Given the description of an element on the screen output the (x, y) to click on. 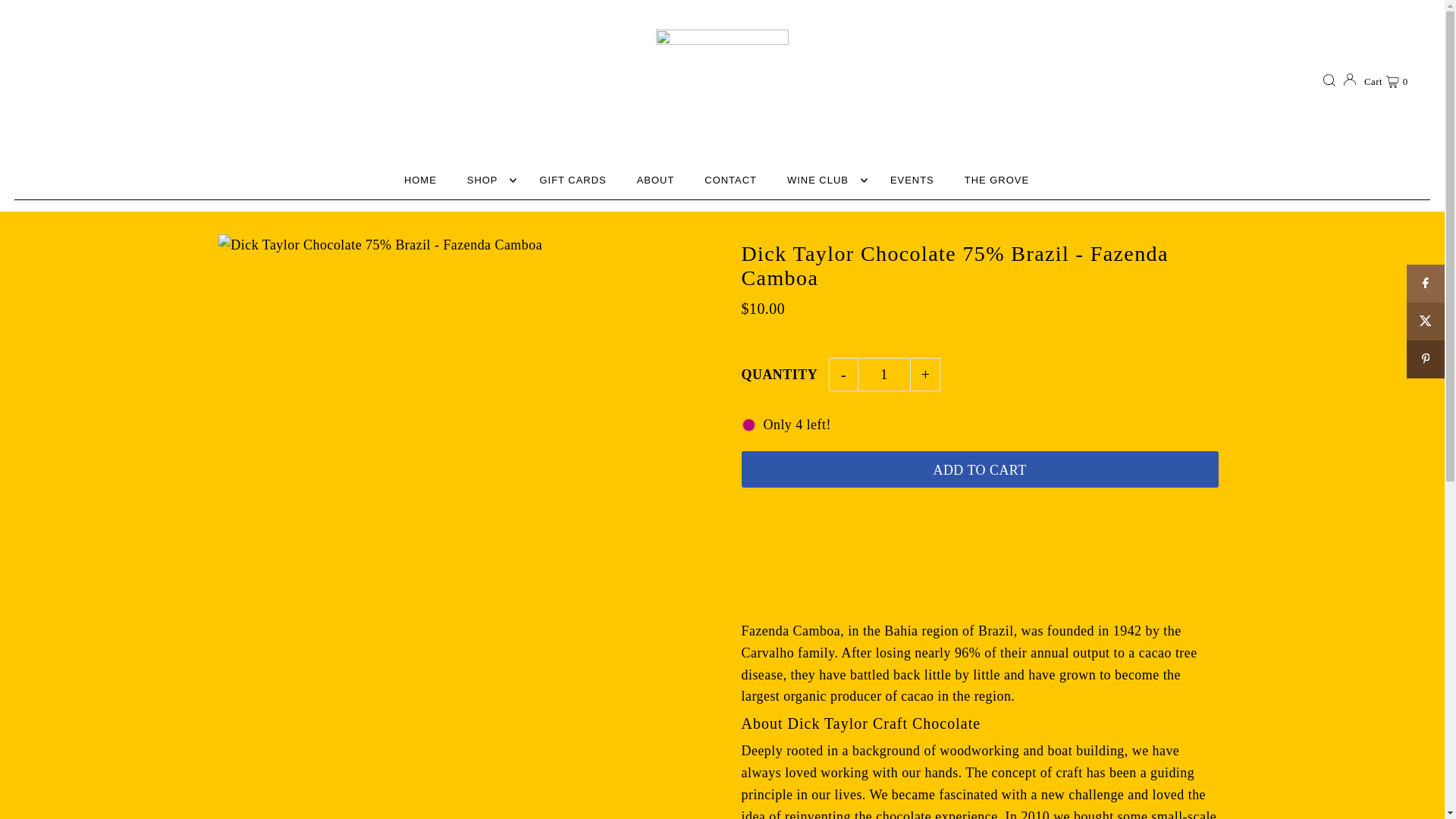
Cart (1385, 79)
ABOUT (655, 180)
HOME (420, 180)
SHOP (488, 180)
WINE CLUB (822, 180)
Add to Cart (979, 469)
CONTACT (730, 180)
GIFT CARDS (571, 180)
1 (884, 374)
